Given the description of an element on the screen output the (x, y) to click on. 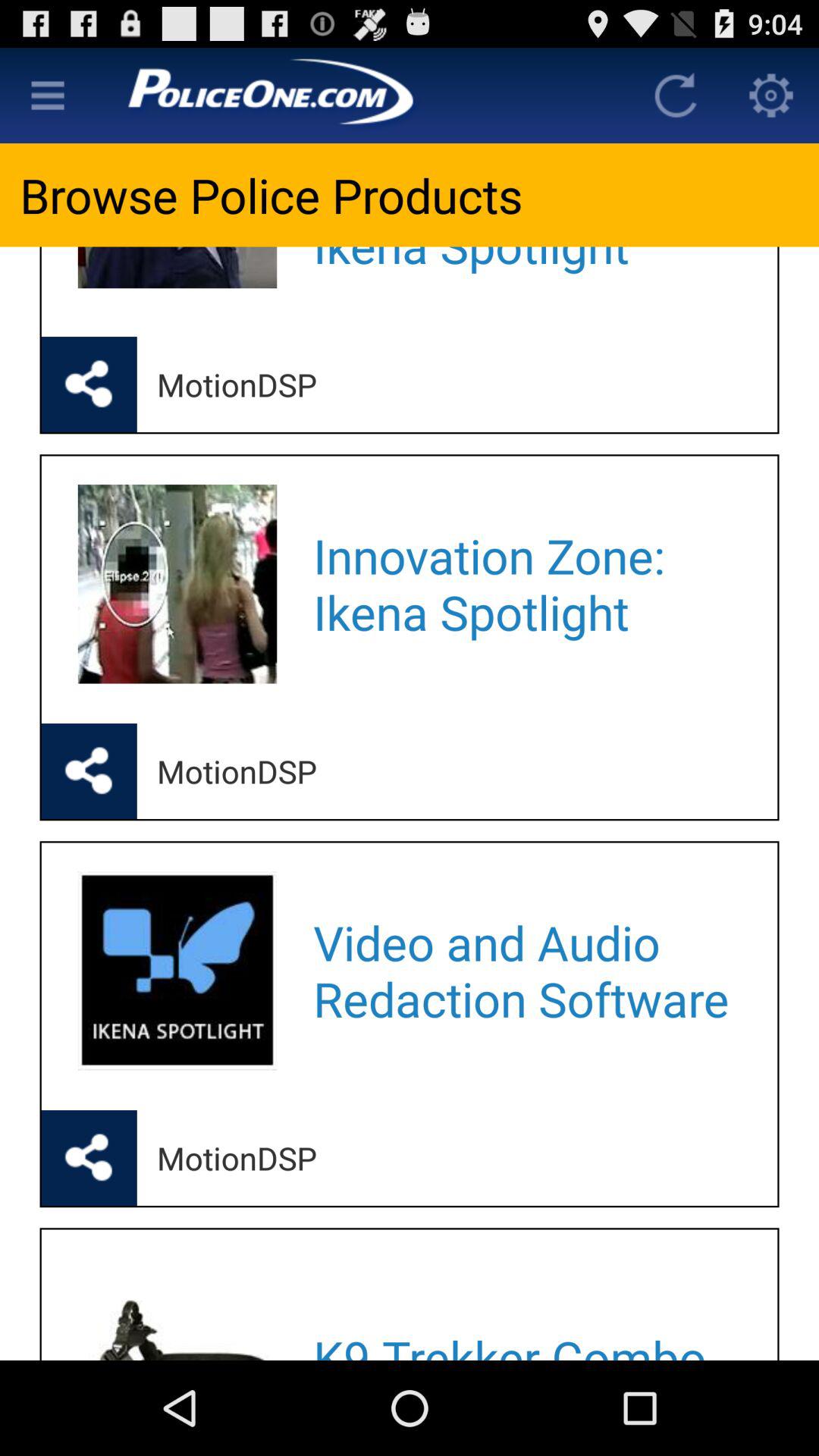
share the news article on social media (89, 384)
